Given the description of an element on the screen output the (x, y) to click on. 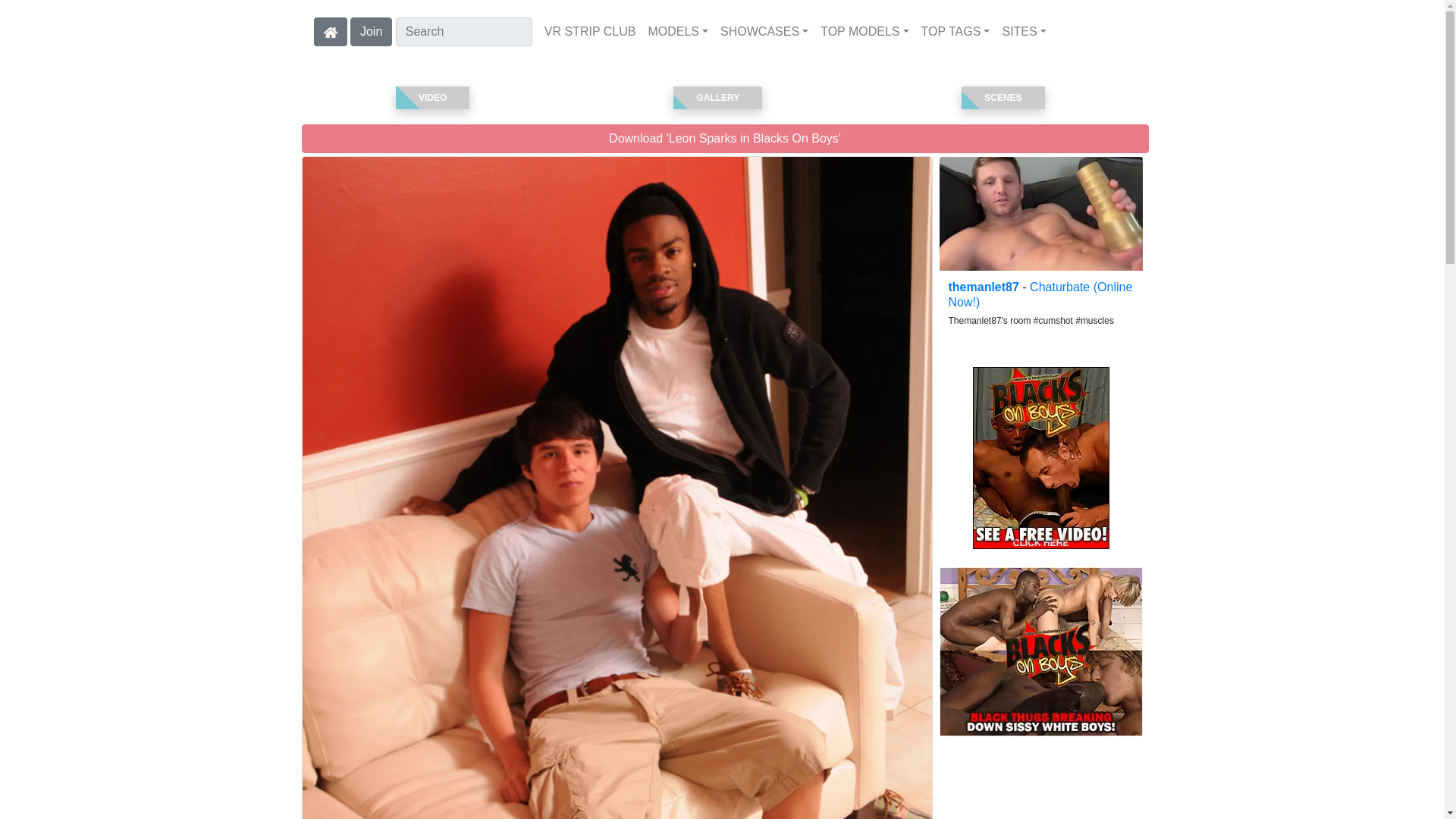
themanlet87 (1040, 214)
Join (370, 30)
SHOWCASES (763, 31)
MODELS (678, 31)
Home (330, 31)
VR STRIP CLUB (590, 31)
TOP MODELS (863, 31)
